Given the description of an element on the screen output the (x, y) to click on. 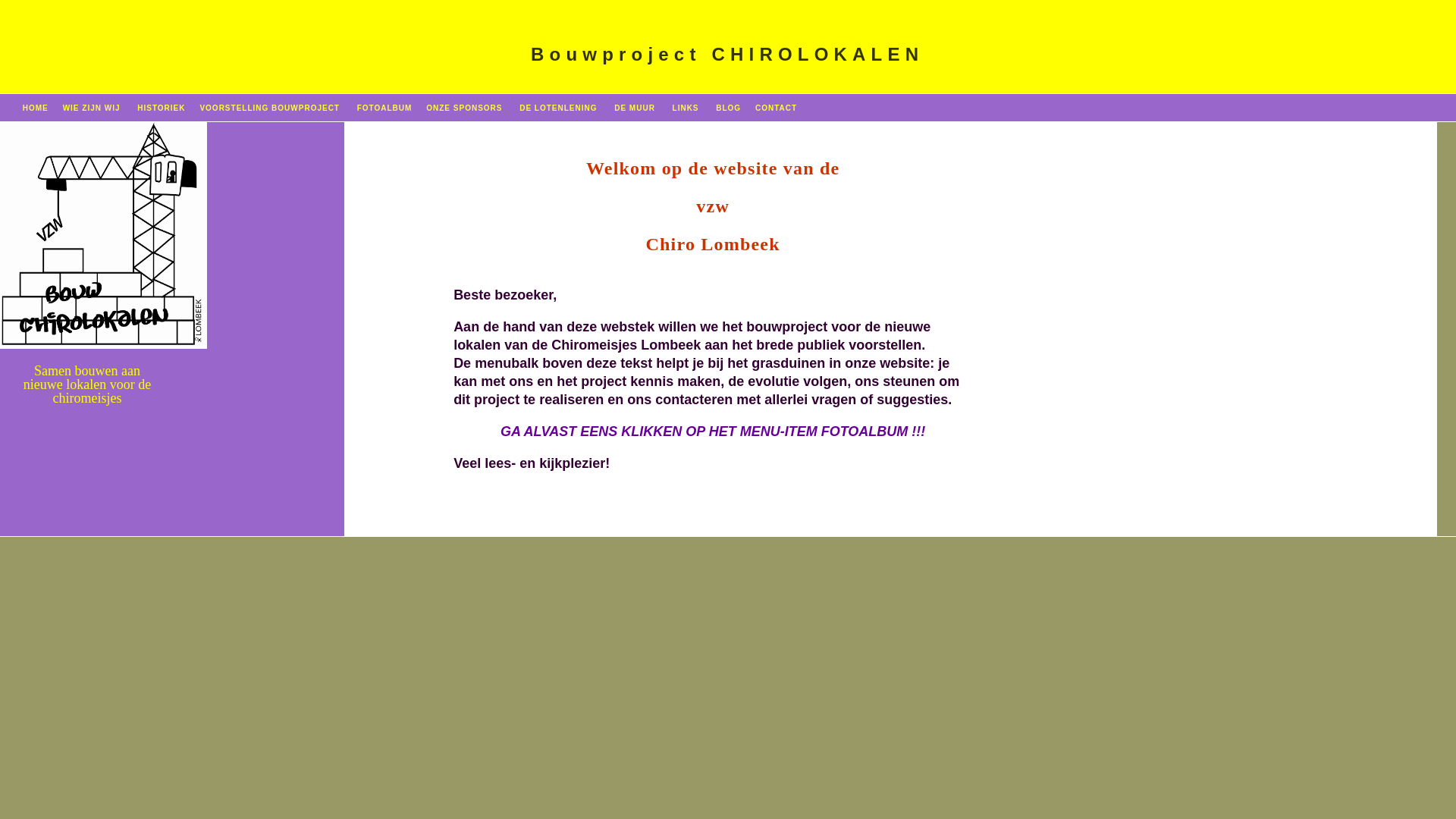
DE MUUR Element type: text (634, 107)
BLOG Element type: text (726, 107)
CONTACT Element type: text (776, 107)
LINKS Element type: text (685, 107)
HOME Element type: text (35, 107)
FOTOALBUM Element type: text (384, 107)
HISTORIEK Element type: text (161, 107)
ONZE SPONSORS Element type: text (464, 107)
DE LOTENLENING Element type: text (557, 107)
VOORSTELLING BOUWPROJECT Element type: text (269, 107)
WIE ZIJN WIJ Element type: text (91, 107)
